Given the description of an element on the screen output the (x, y) to click on. 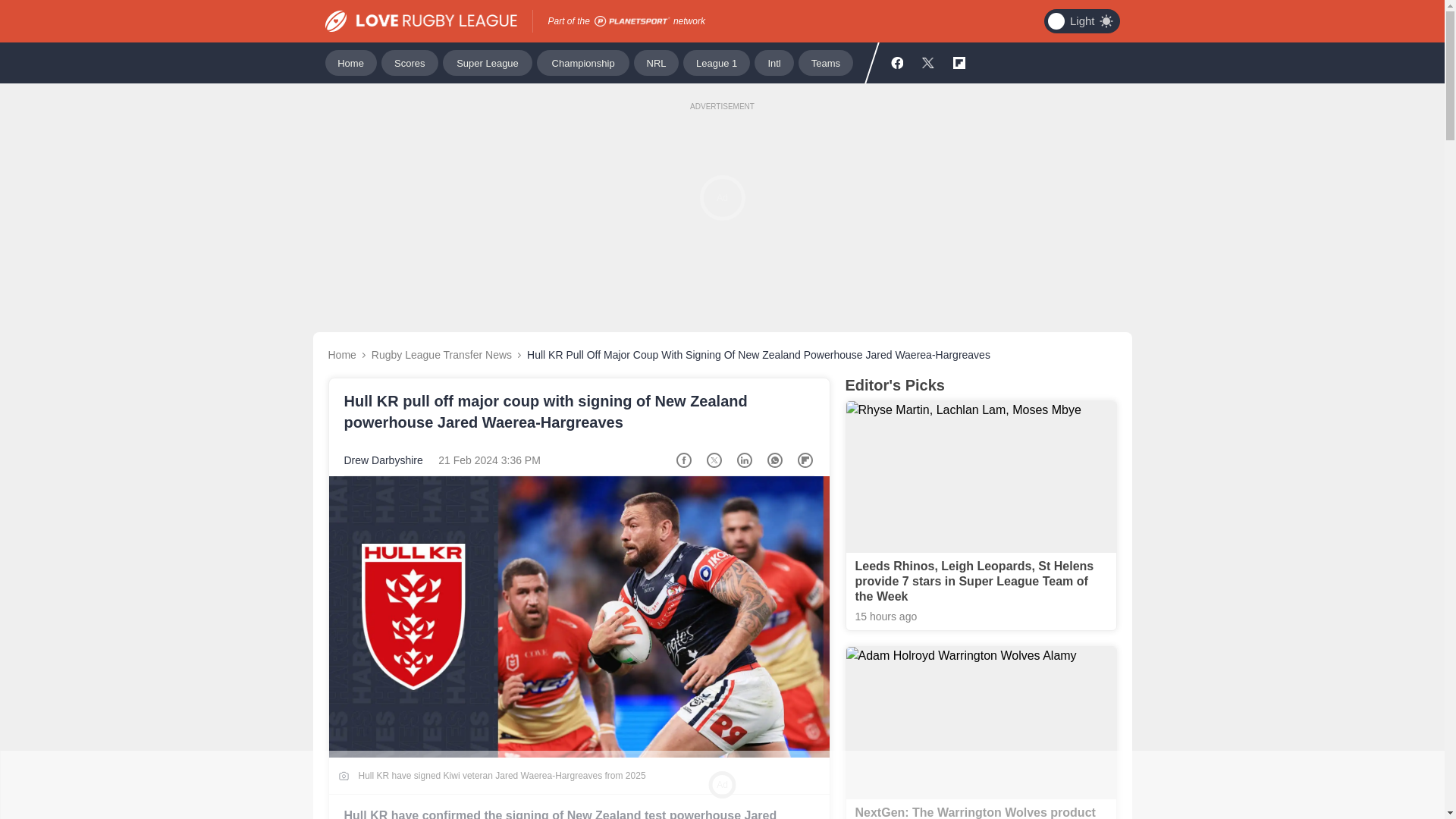
Championship (582, 62)
Drew Darbyshire (383, 460)
Home (349, 62)
Super League (487, 62)
Scores (409, 62)
Teams (825, 62)
League 1 (715, 62)
Home (341, 354)
Rugby League Transfer News (441, 354)
Intl (773, 62)
